Given the description of an element on the screen output the (x, y) to click on. 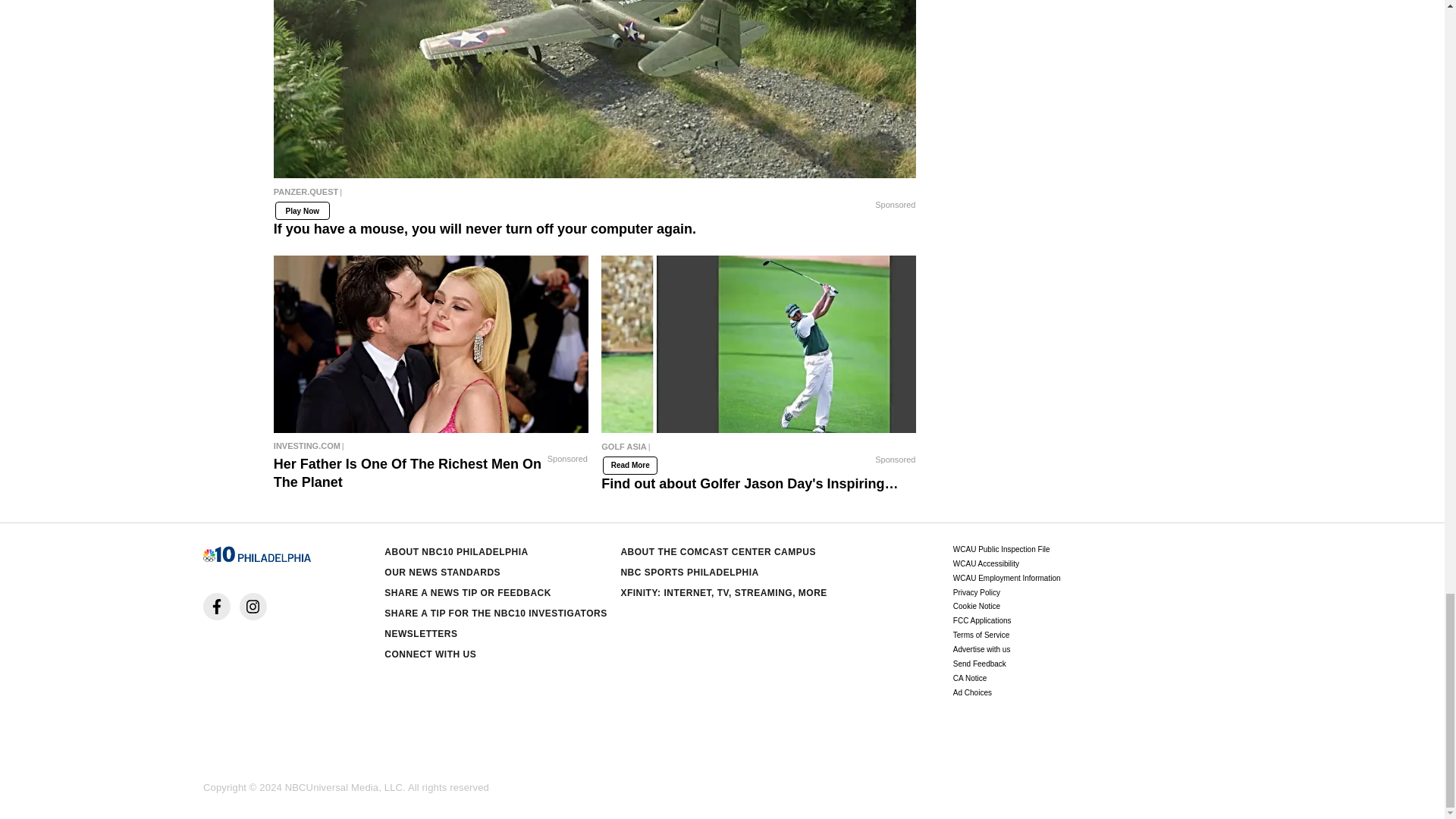
Her Father Is One Of The Richest Men On The Planet (430, 445)
Find out about Golfer Jason Day's Inspiring Story (758, 344)
Her Father Is One Of The Richest Men On The Planet (430, 344)
Find out about Golfer Jason Day's Inspiring Story (758, 450)
